Given the description of an element on the screen output the (x, y) to click on. 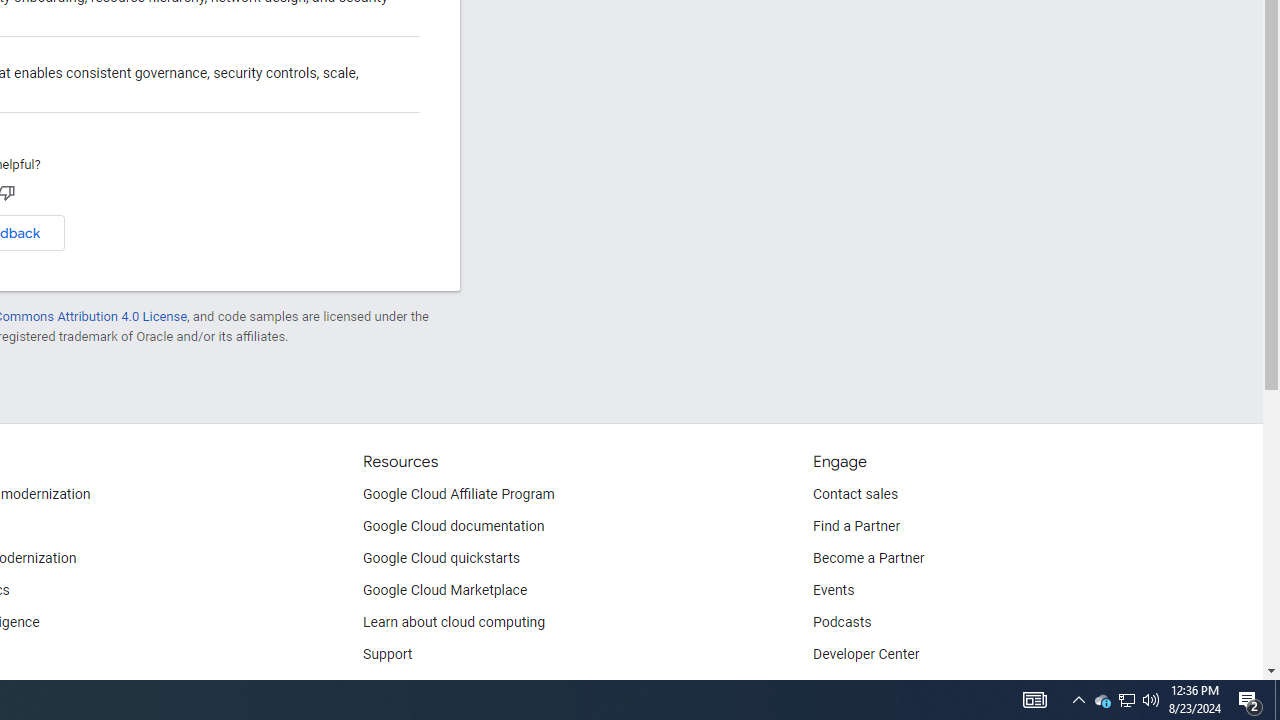
Events (833, 590)
Support (388, 655)
Press Corner (852, 686)
Contact sales (855, 494)
Developer Center (866, 655)
Find a Partner (856, 526)
Google Cloud Affiliate Program (459, 494)
Code samples (407, 686)
Google Cloud documentation (454, 526)
Become a Partner (868, 558)
Learn about cloud computing (454, 622)
Google Cloud Marketplace (445, 590)
Google Cloud quickstarts (441, 558)
Podcasts (841, 622)
